Given the description of an element on the screen output the (x, y) to click on. 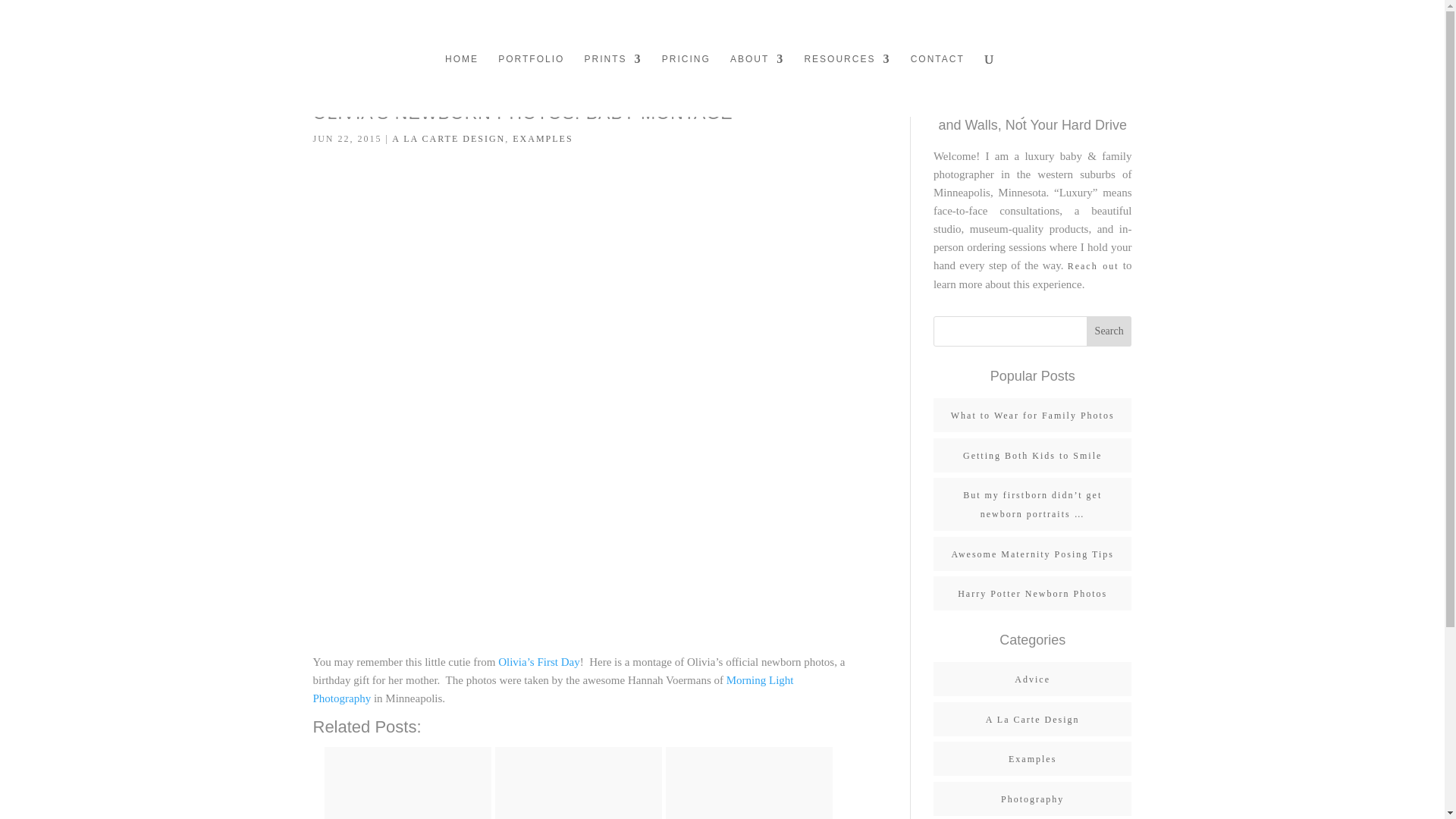
Reach out (1093, 266)
Search (1109, 331)
EXAMPLES (542, 138)
Examples (1033, 758)
PORTFOLIO (530, 85)
A LA CARTE DESIGN (448, 138)
Photography (1032, 798)
How To Prepare for Your Newborn Session: 5 Easy Tips (748, 782)
Search (1109, 331)
Harry Potter Newborn Photos (1032, 593)
When is the Best Time to Take Newborn Photos? (578, 782)
RESOURCES (846, 85)
When is the Best Time to Take Newborn Photos? (573, 790)
A La Carte Design (1032, 719)
